Given the description of an element on the screen output the (x, y) to click on. 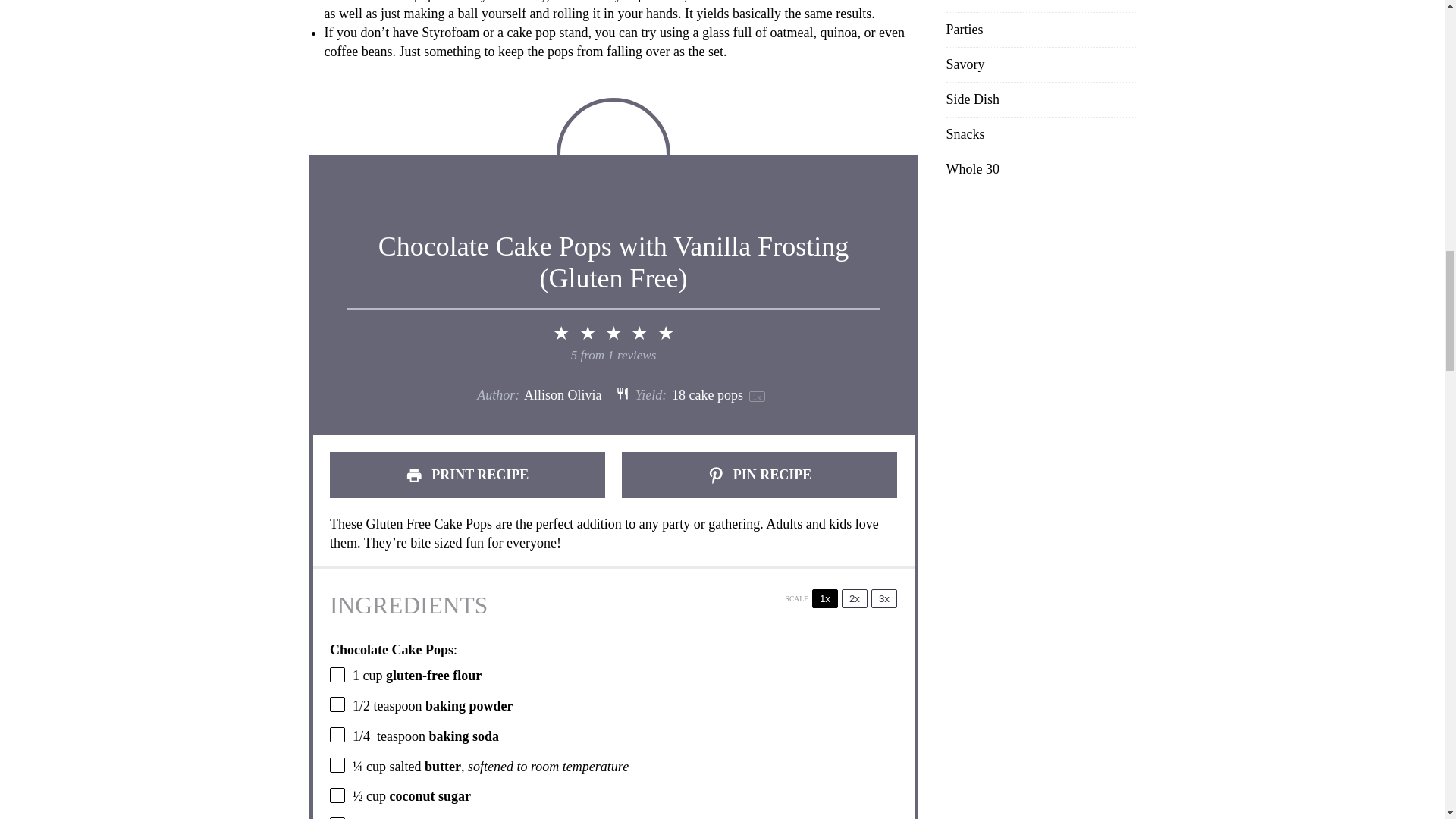
PIN RECIPE (758, 474)
3x (883, 598)
PRINT RECIPE (467, 474)
2x (854, 598)
1x (825, 598)
